Given the description of an element on the screen output the (x, y) to click on. 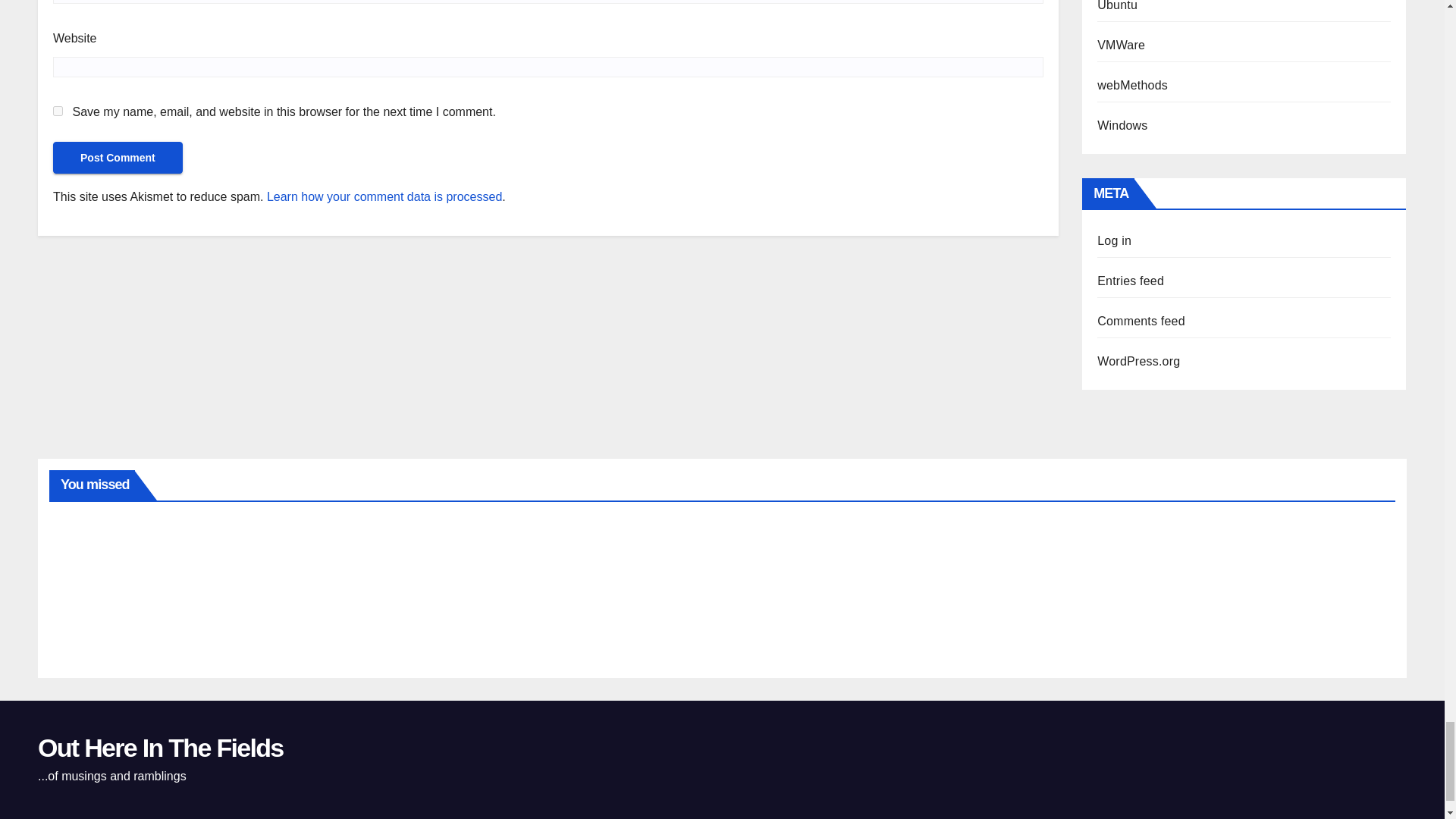
Post Comment (117, 157)
yes (57, 111)
